Given the description of an element on the screen output the (x, y) to click on. 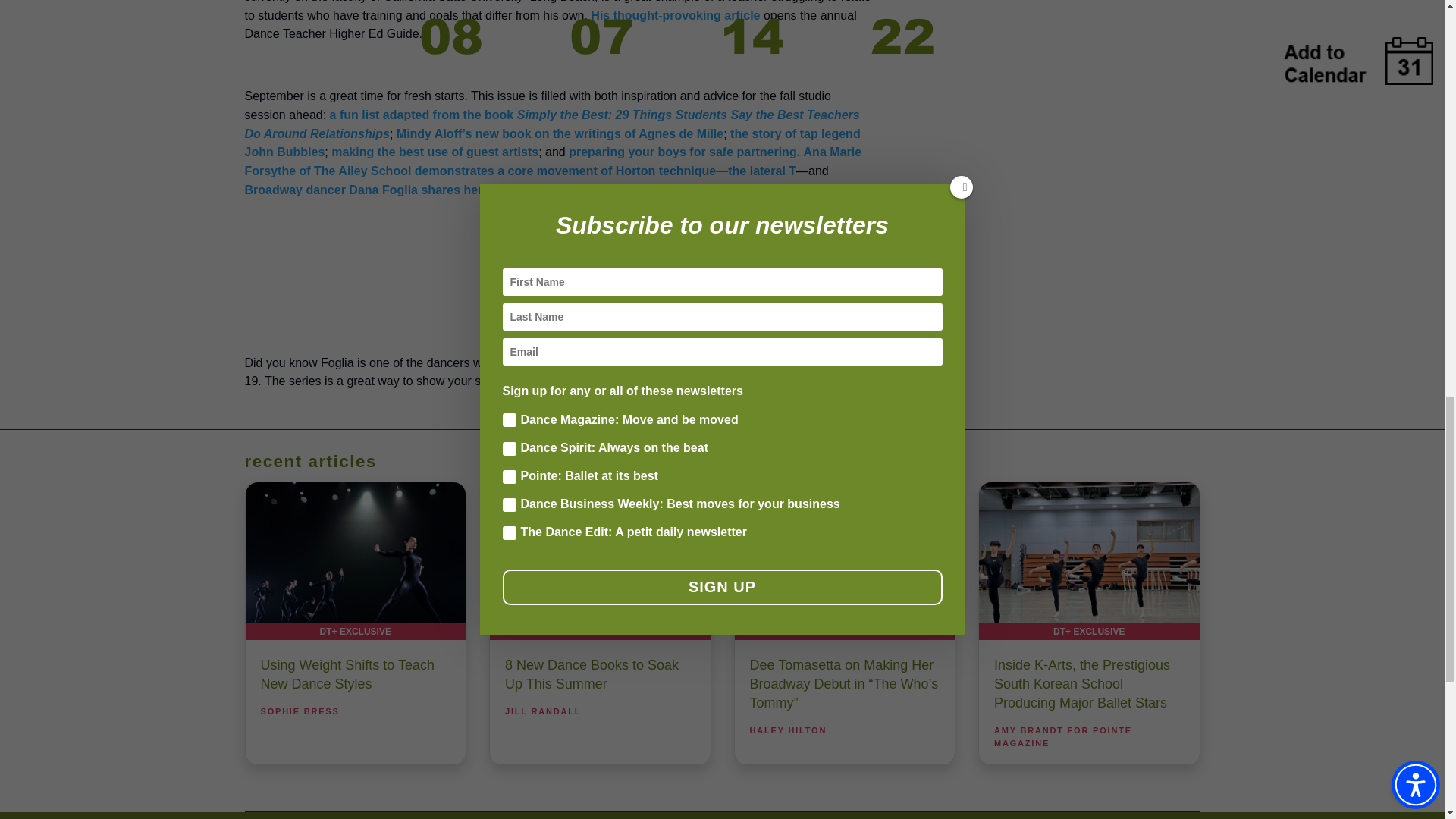
3rd party ad content (558, 270)
